Given the description of an element on the screen output the (x, y) to click on. 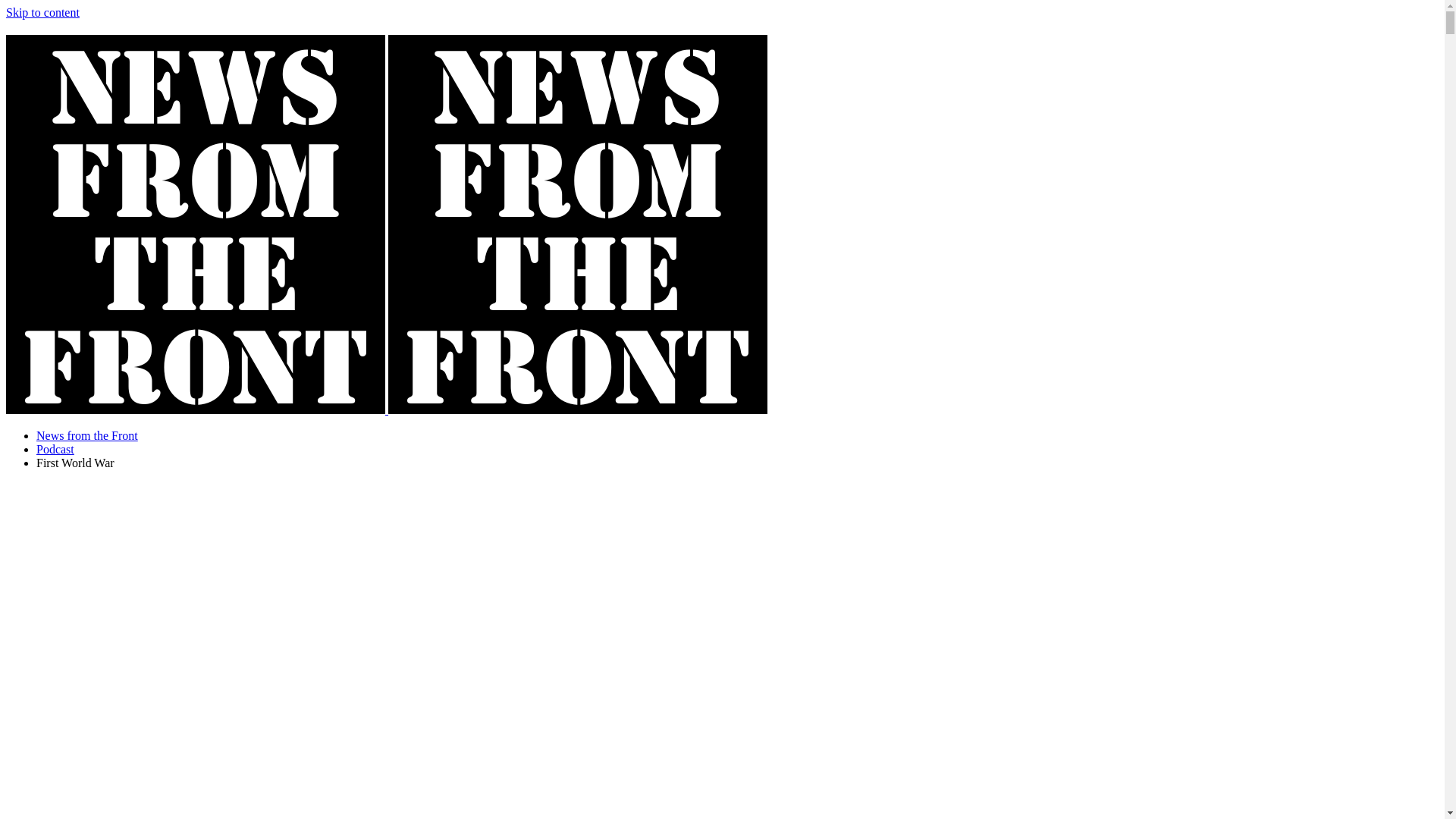
Skip to content Element type: text (42, 12)
Podcast Element type: text (55, 448)
News from the Front Element type: text (87, 435)
